Given the description of an element on the screen output the (x, y) to click on. 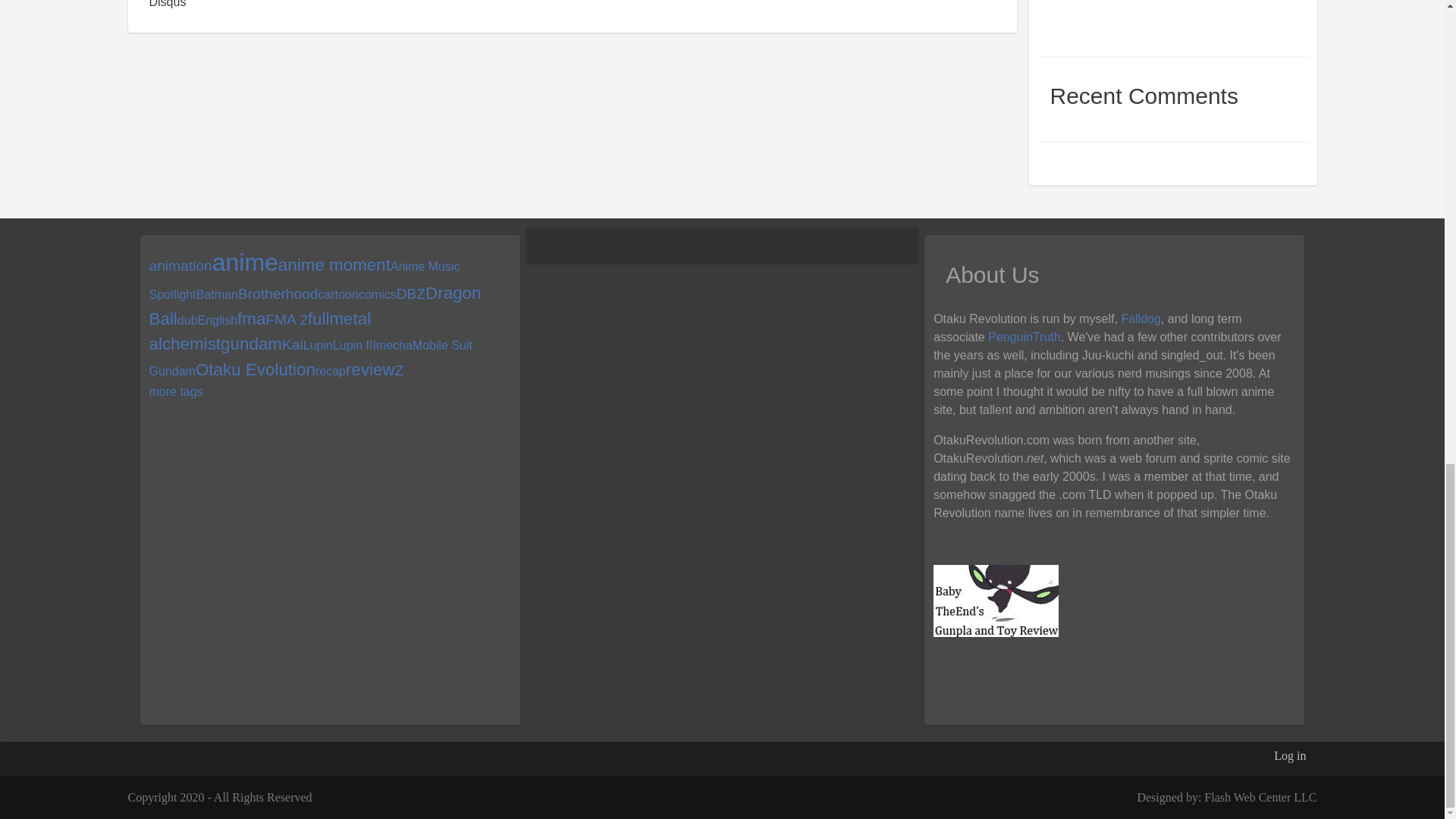
Brotherhood (278, 293)
dub (187, 319)
Flash Web Center LLC (1260, 797)
FMA 2 (285, 319)
comics (377, 294)
English (217, 319)
Batman (217, 294)
cartoon (338, 294)
anime moment (334, 264)
anime (245, 262)
DBZ (410, 293)
Anime Music Spotlight (304, 280)
fma (250, 318)
Dragon Ball (314, 305)
animation (179, 265)
